Given the description of an element on the screen output the (x, y) to click on. 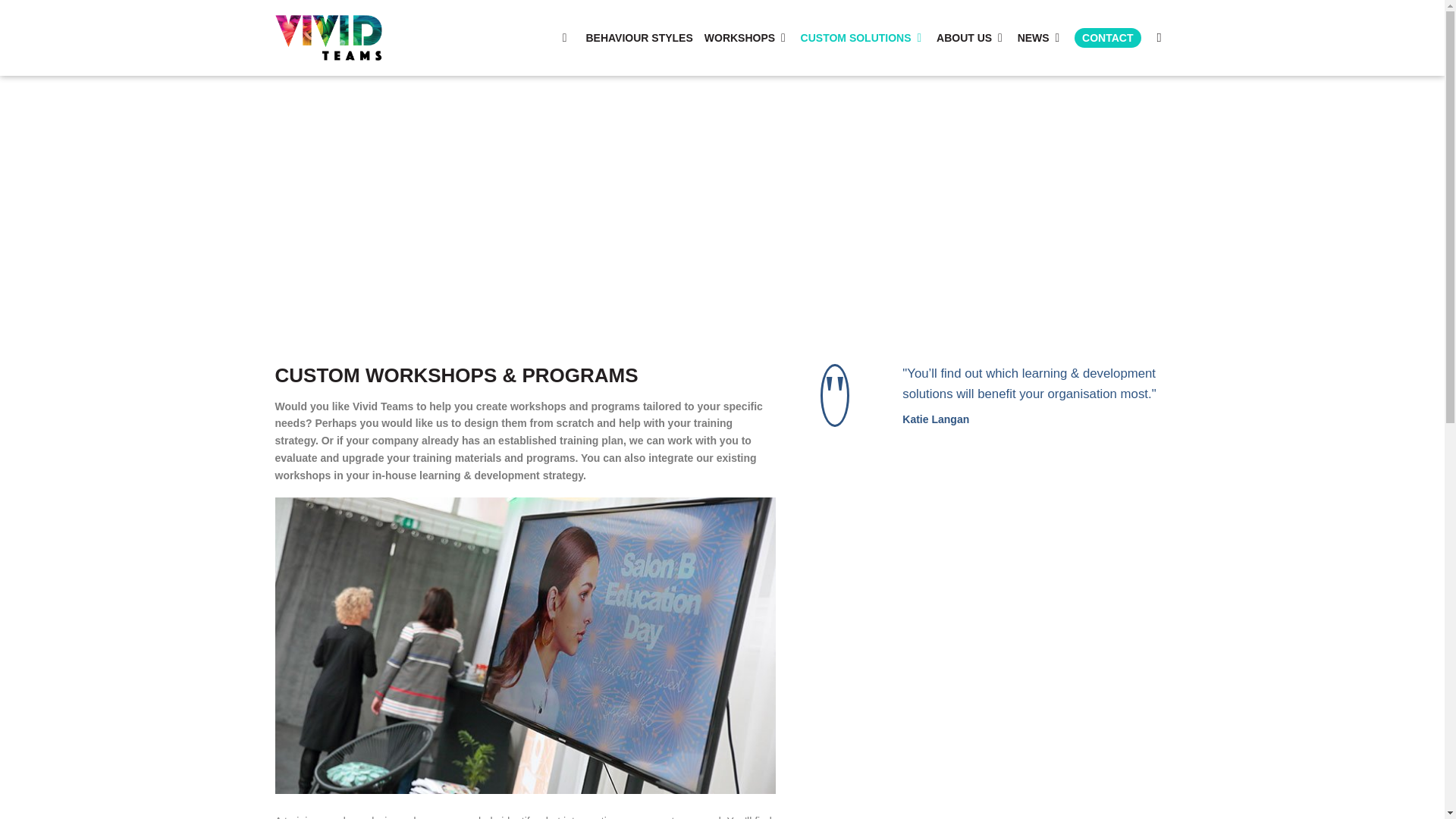
WORKSHOPS (746, 37)
BEHAVIOUR STYLES (639, 37)
Back to the homepage (350, 37)
